Given the description of an element on the screen output the (x, y) to click on. 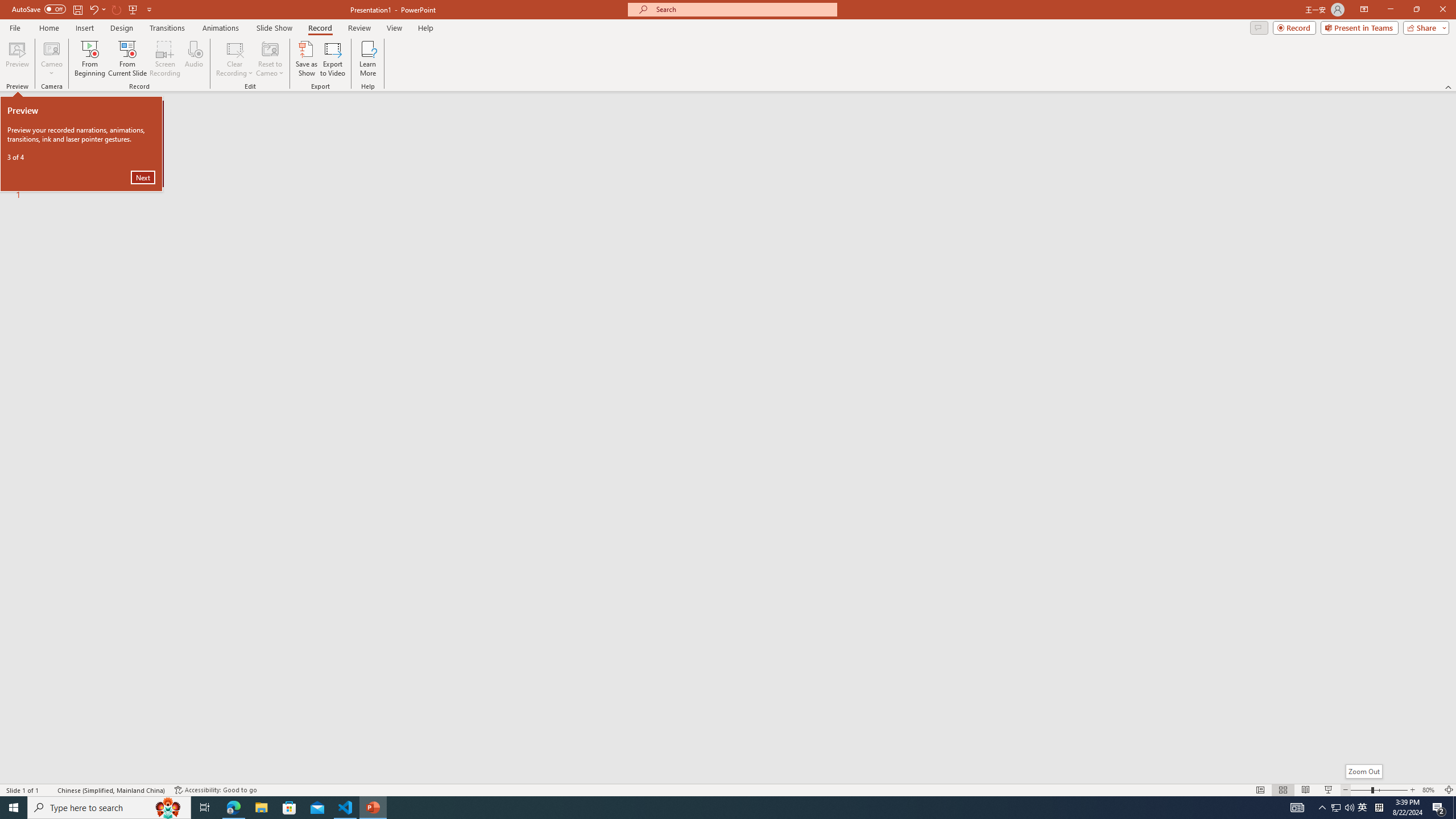
Zoom 80% (1430, 790)
